Given the description of an element on the screen output the (x, y) to click on. 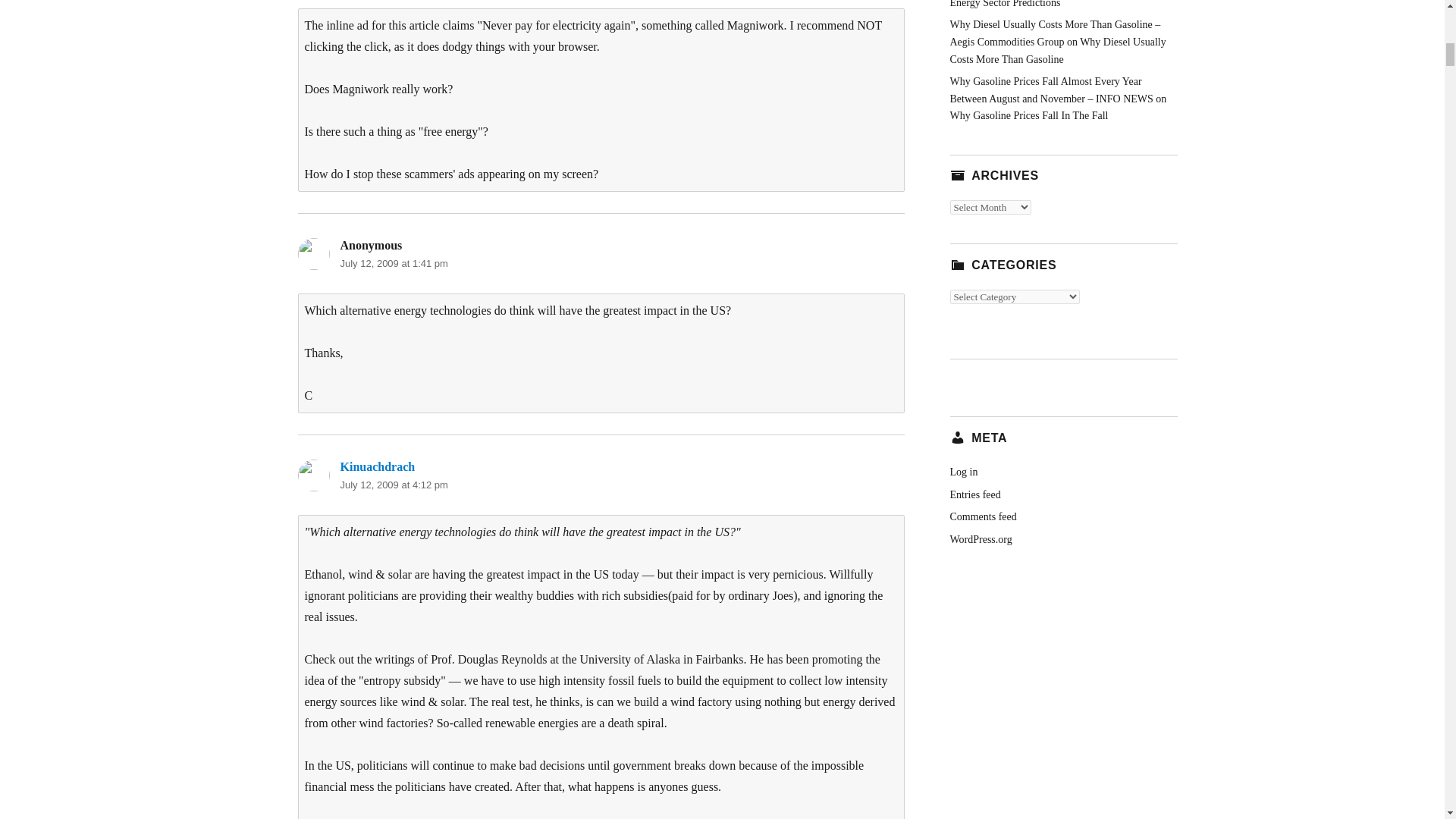
July 12, 2009 at 1:41 pm (392, 263)
Kinuachdrach (376, 466)
July 12, 2009 at 4:12 pm (392, 484)
